Given the description of an element on the screen output the (x, y) to click on. 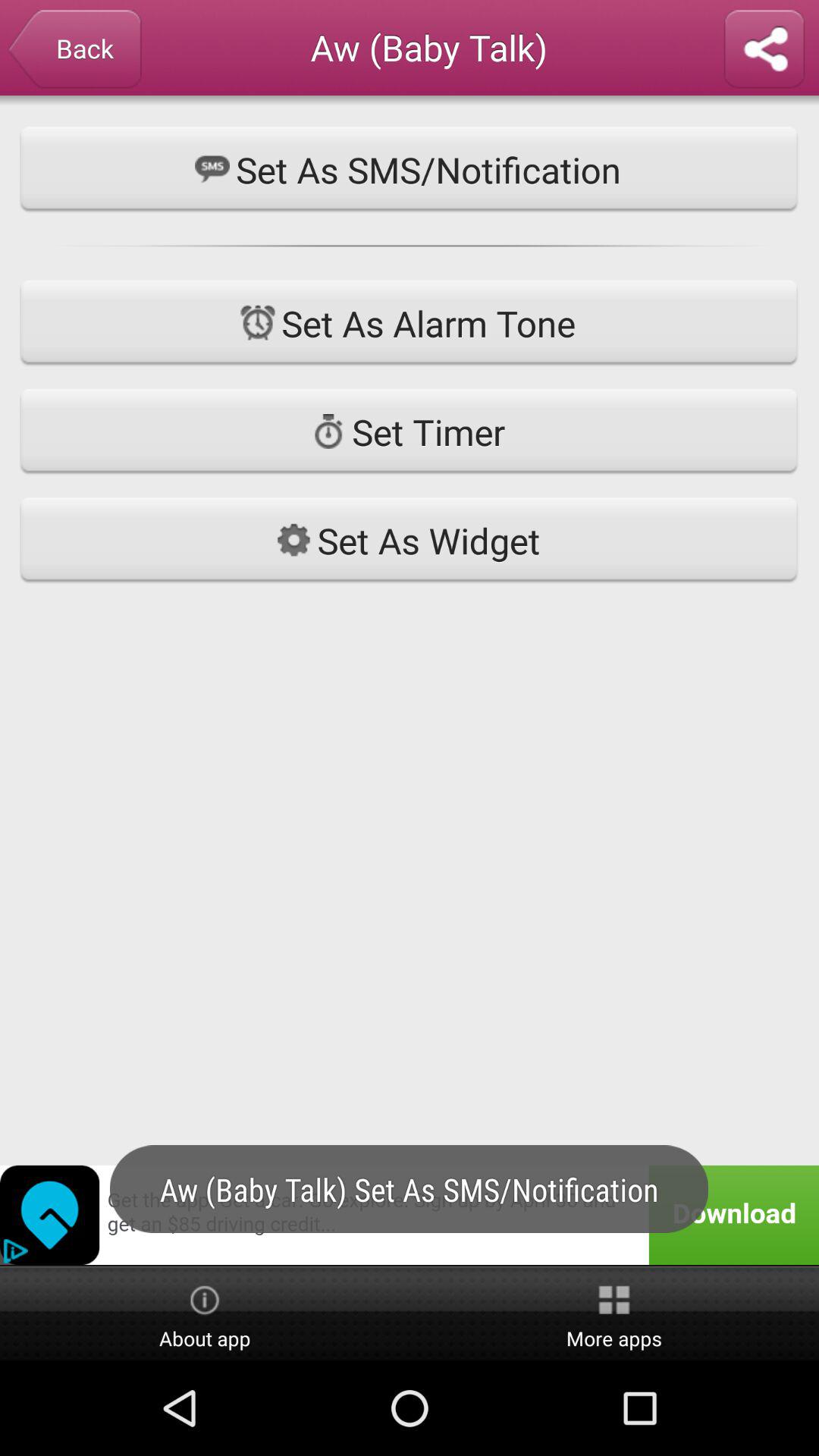
share ringtone (764, 50)
